Given the description of an element on the screen output the (x, y) to click on. 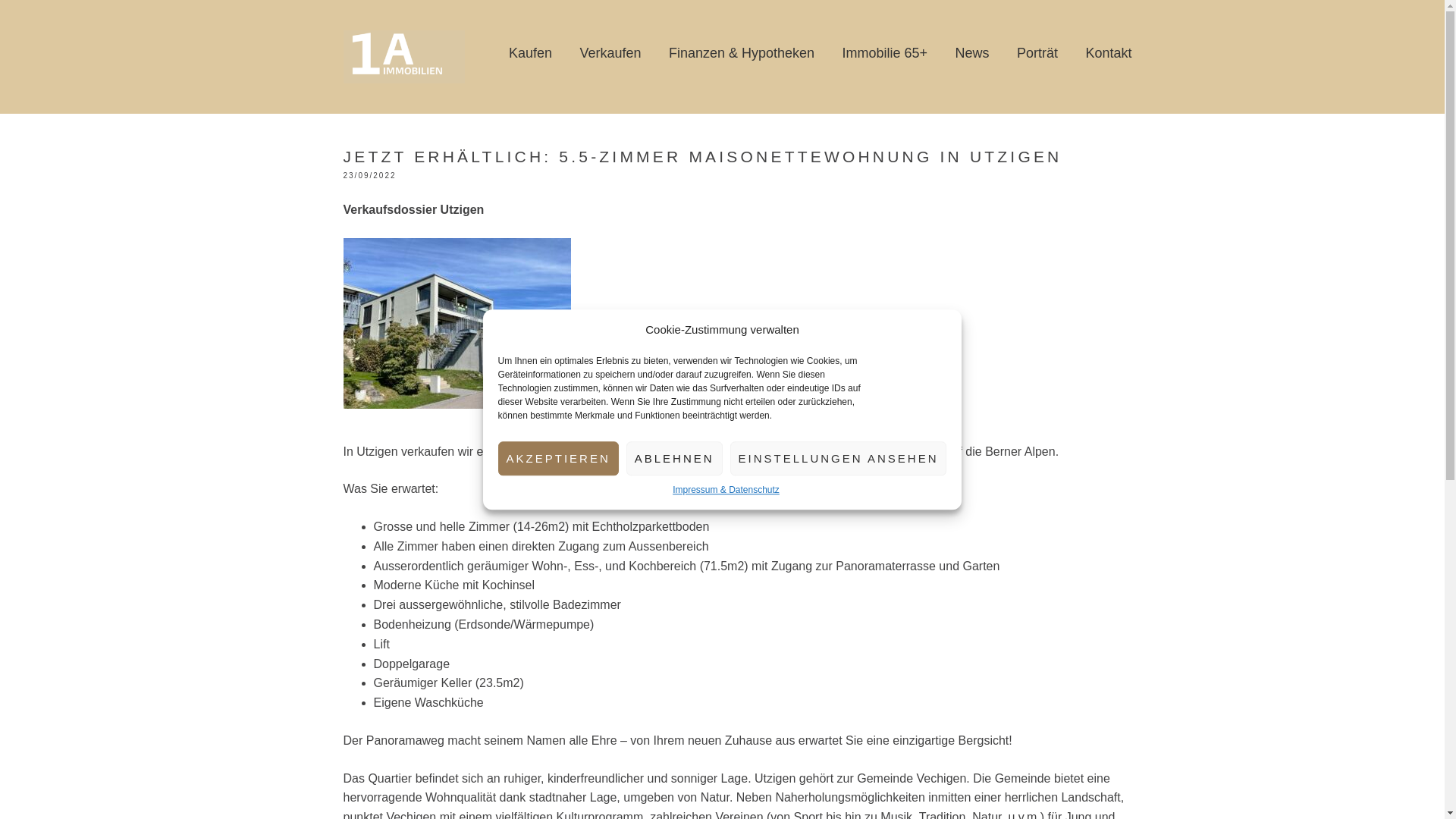
Verkaufsdossier Utzigen Element type: text (412, 209)
EINSTELLUNGEN ANSEHEN Element type: text (838, 458)
Kaufen Element type: text (530, 52)
AKZEPTIEREN Element type: text (558, 458)
Impressum & Datenschutz Element type: text (725, 490)
Kontakt Element type: text (1108, 52)
Finanzen & Hypotheken Element type: text (741, 52)
1A-IMMOBILIEN Element type: text (418, 52)
Immobilie 65+ Element type: text (884, 52)
News Element type: text (972, 52)
Verkaufen Element type: text (609, 52)
ABLEHNEN Element type: text (674, 458)
